Given the description of an element on the screen output the (x, y) to click on. 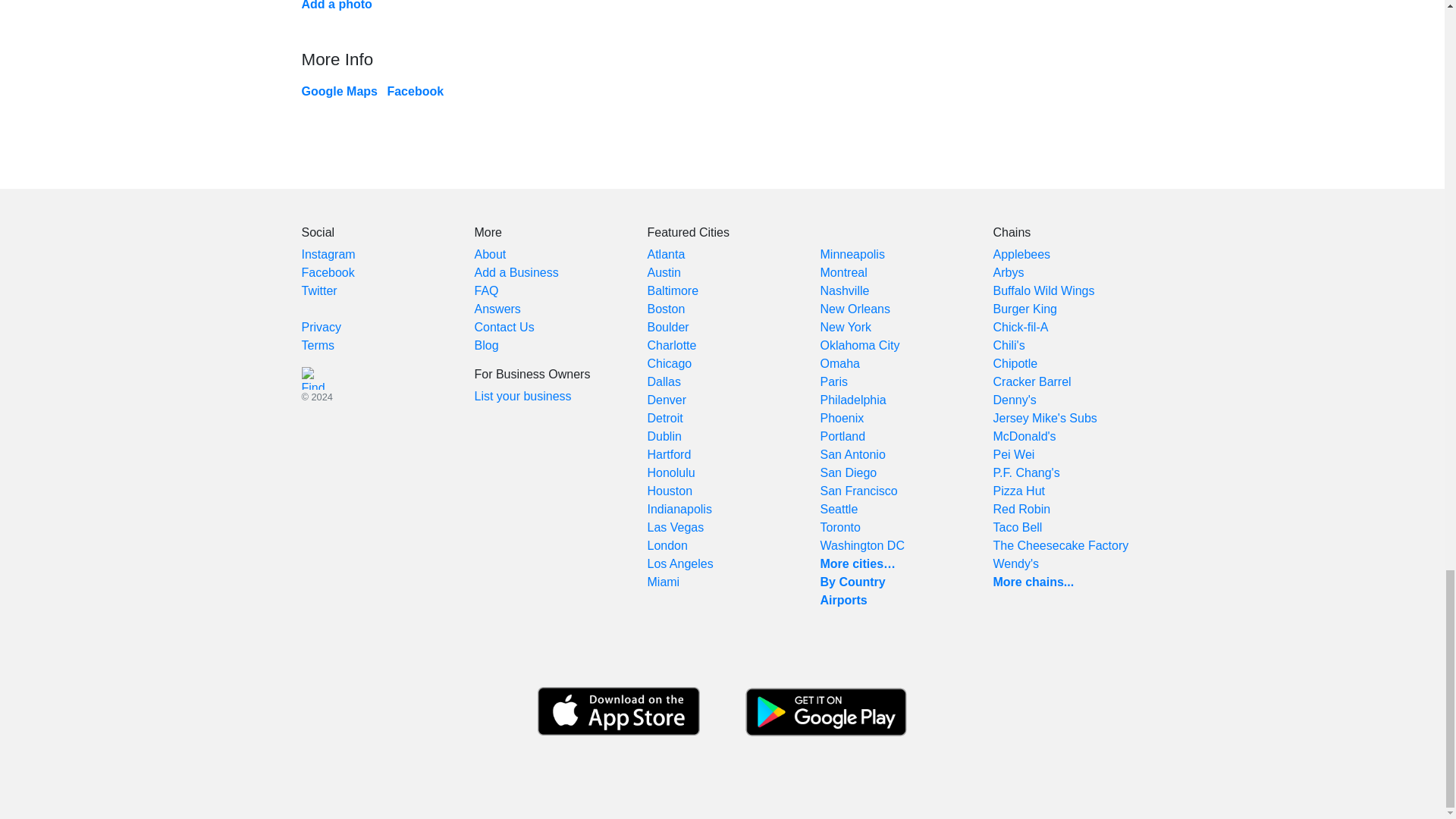
Privacy (320, 327)
About (490, 254)
Add a photo (336, 5)
FAQ (486, 290)
Twitter (319, 290)
Instagram (328, 254)
Terms (317, 345)
Facebook (328, 272)
Facebook (415, 91)
Google Maps (339, 91)
